Given the description of an element on the screen output the (x, y) to click on. 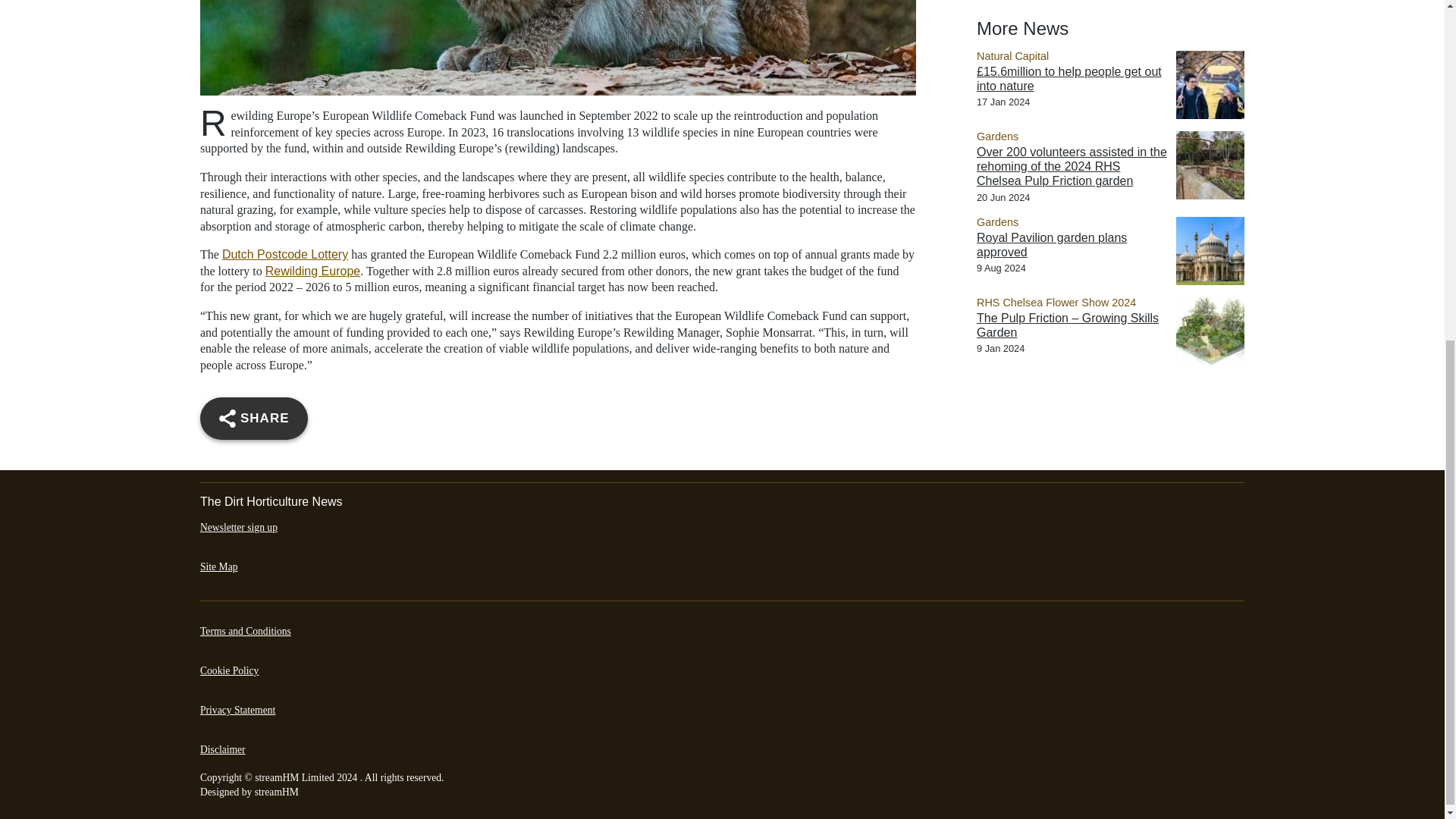
Rewilding Europe (311, 270)
SHARE (253, 418)
Dutch Postcode Lottery (284, 254)
